Given the description of an element on the screen output the (x, y) to click on. 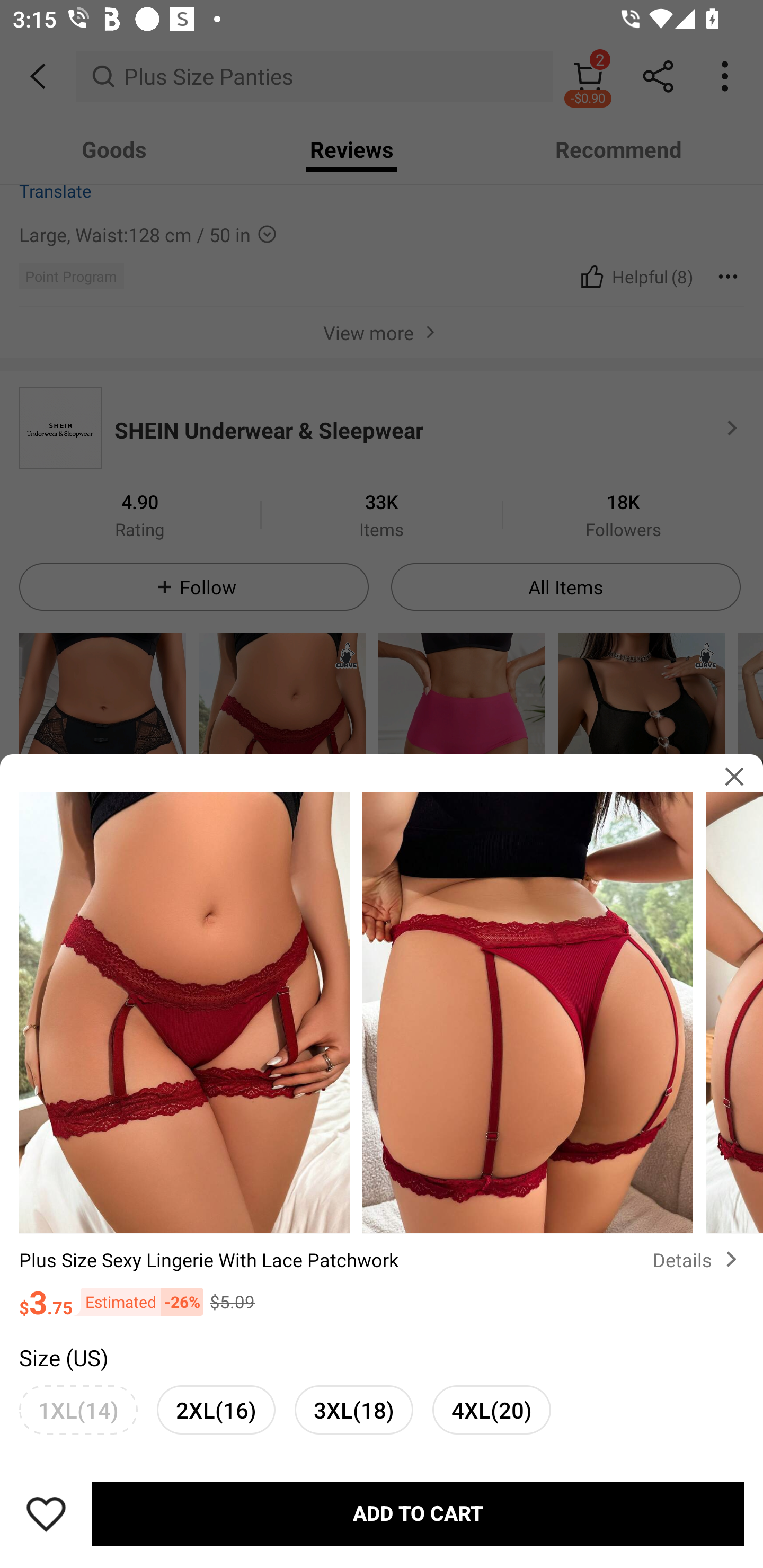
Details (698, 1258)
Estimated -26% (137, 1301)
Size (US) (63, 1357)
1XL(14) (78, 1409)
2XL(16) 2XL(16)unselected option (216, 1409)
3XL(18) 3XL(18)unselected option (353, 1409)
4XL(20) 4XL(20)unselected option (491, 1409)
ADD TO CART (417, 1513)
Save (46, 1513)
